Given the description of an element on the screen output the (x, y) to click on. 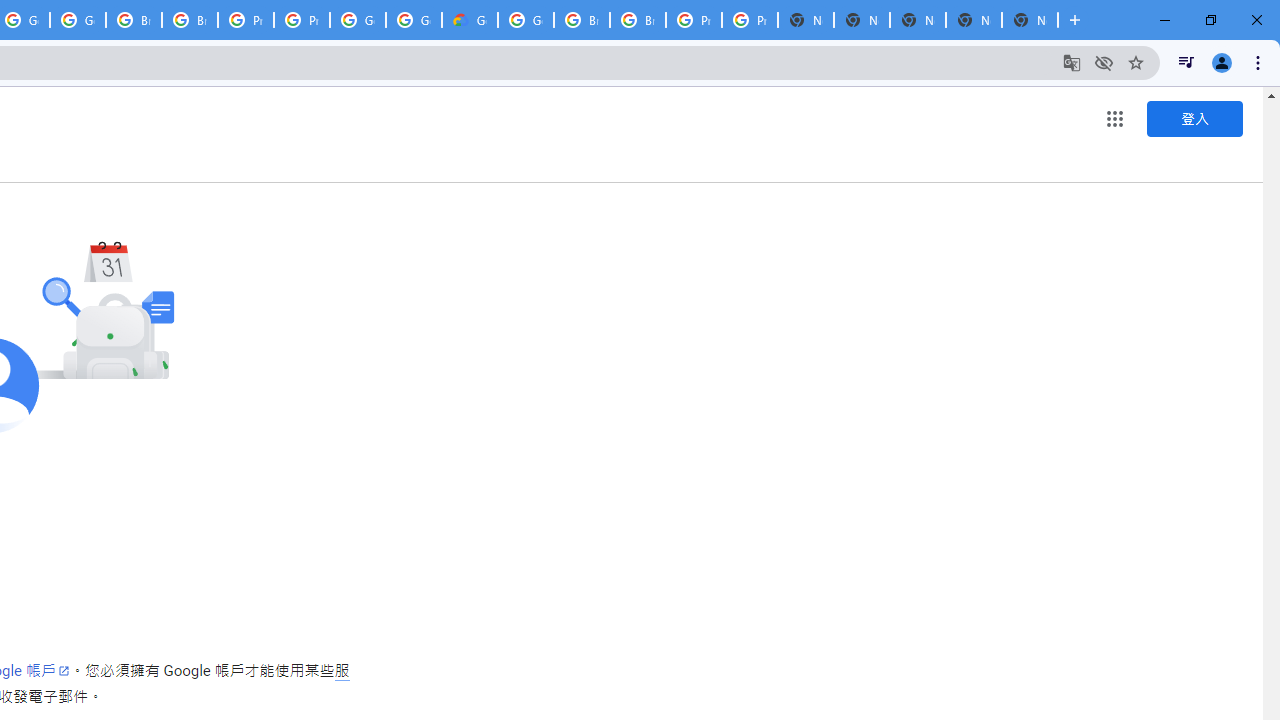
Google Cloud Estimate Summary (469, 20)
Google Cloud Platform (525, 20)
Google Cloud Platform (413, 20)
Browse Chrome as a guest - Computer - Google Chrome Help (134, 20)
